Given the description of an element on the screen output the (x, y) to click on. 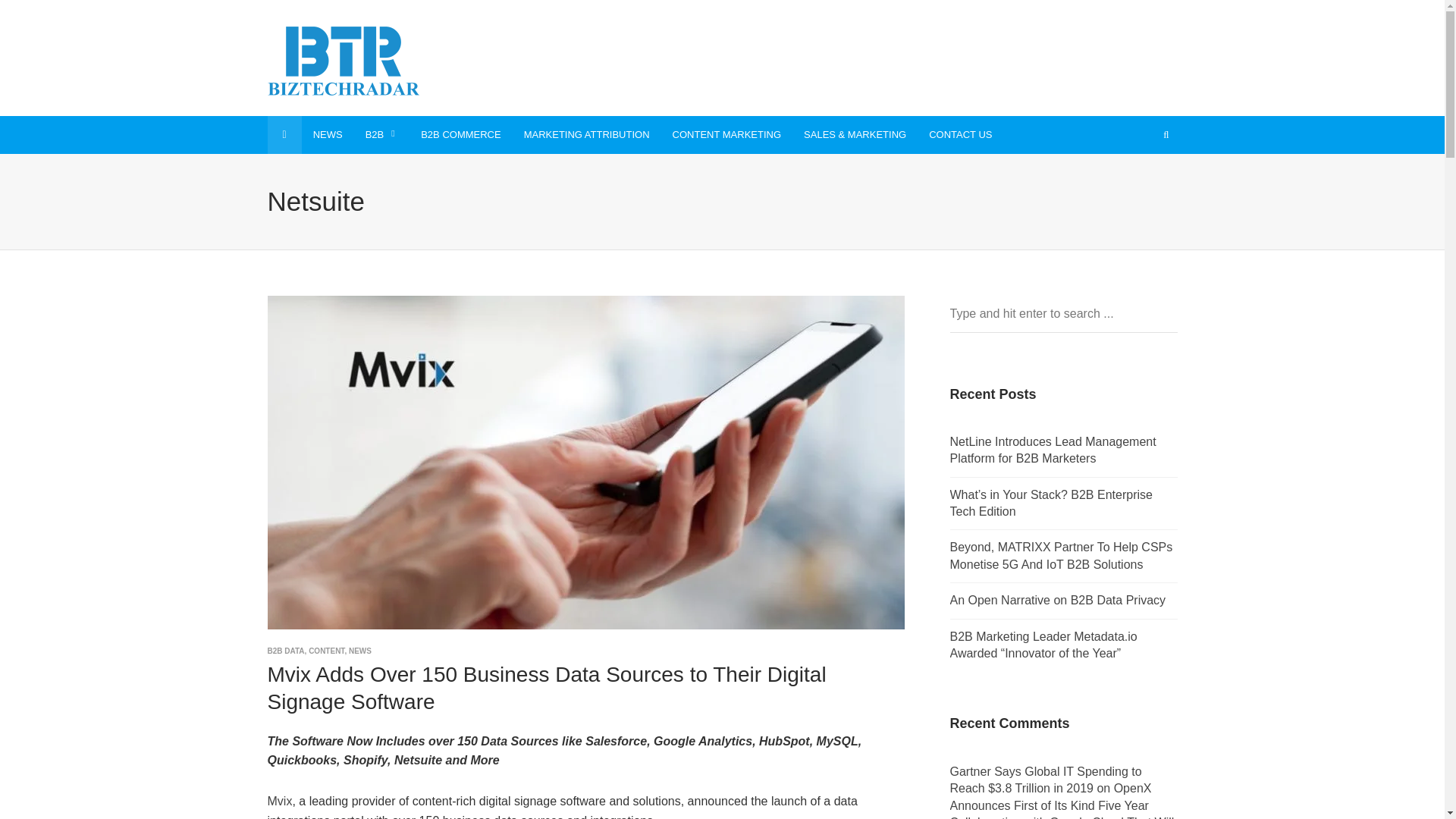
Mvix (279, 800)
CONTENT MARKETING (727, 134)
Type and hit enter to search ... (1062, 313)
B2B COMMERCE (460, 134)
Type and hit enter to search ... (1062, 313)
CONTENT (325, 650)
